Given the description of an element on the screen output the (x, y) to click on. 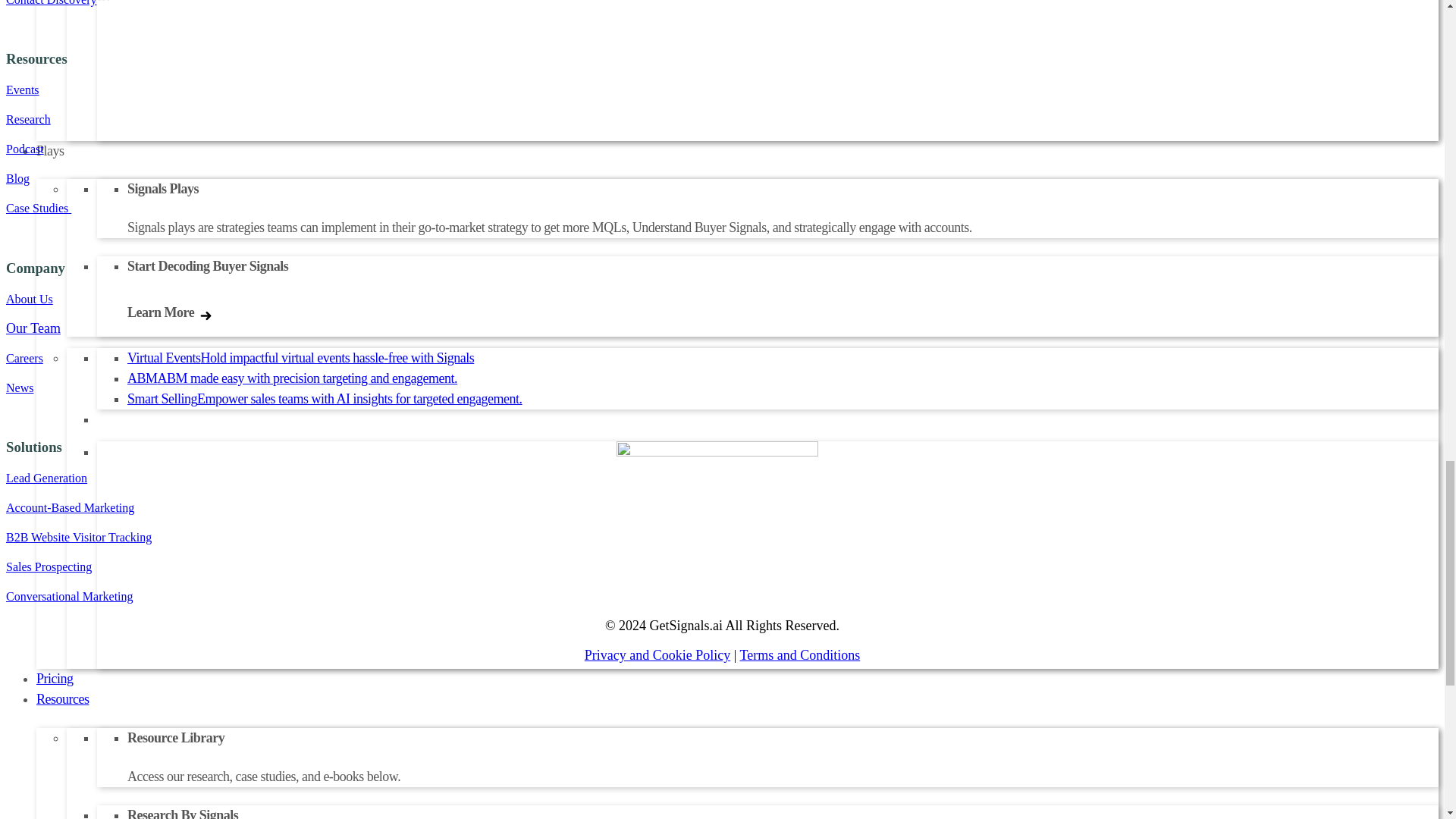
Plays (50, 150)
ABMABM made easy with precision targeting and engagement. (292, 378)
Pricing (55, 678)
Resources (62, 698)
